Given the description of an element on the screen output the (x, y) to click on. 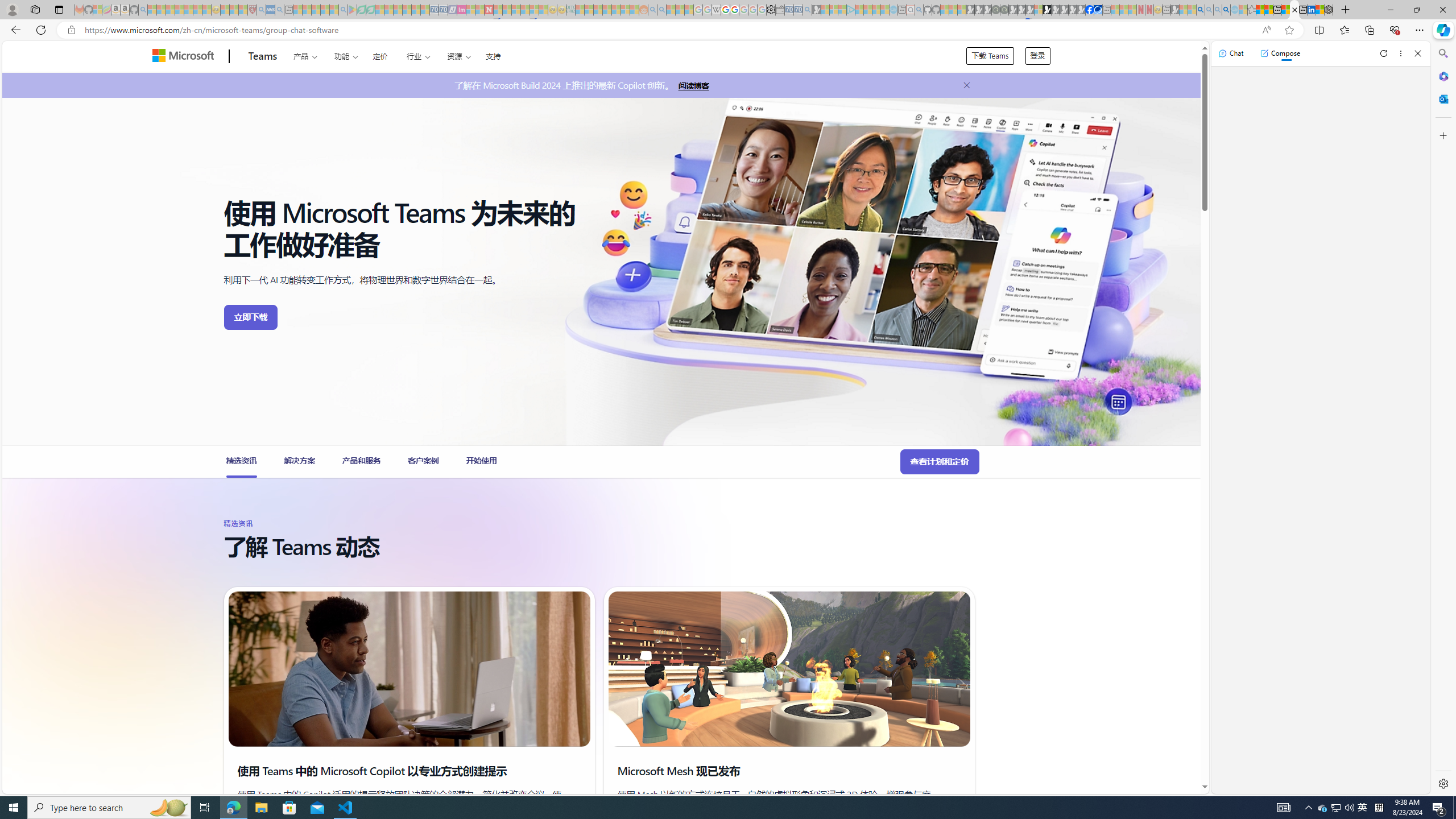
Close Customize pane (1442, 135)
